Given the description of an element on the screen output the (x, y) to click on. 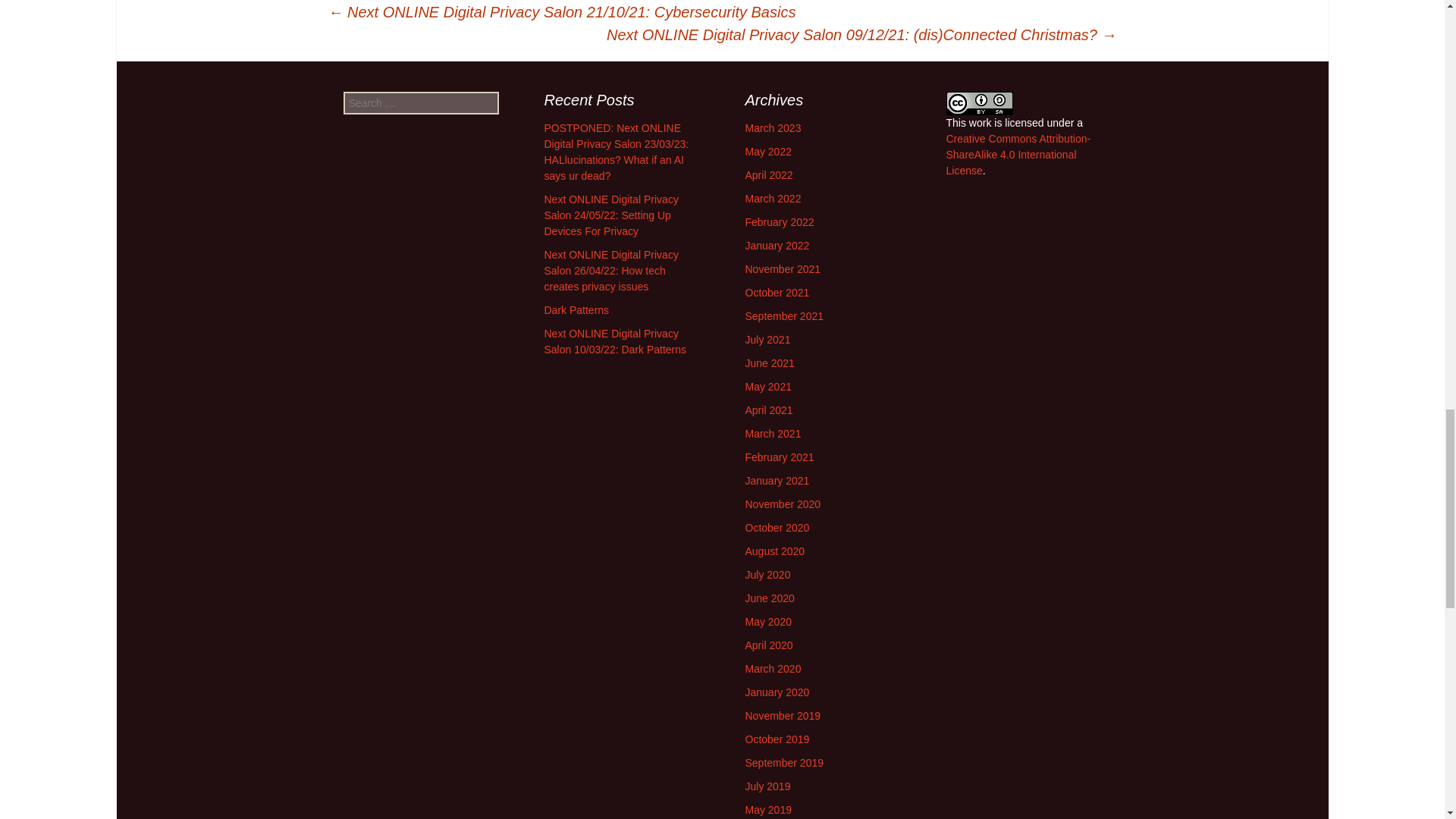
May 2021 (767, 386)
January 2022 (776, 245)
March 2021 (772, 433)
Dark Patterns (577, 309)
October 2021 (776, 292)
January 2021 (776, 480)
November 2021 (782, 268)
September 2021 (784, 316)
March 2022 (772, 198)
May 2022 (767, 151)
April 2021 (768, 410)
June 2021 (768, 363)
April 2022 (768, 174)
February 2022 (778, 222)
February 2021 (778, 457)
